Given the description of an element on the screen output the (x, y) to click on. 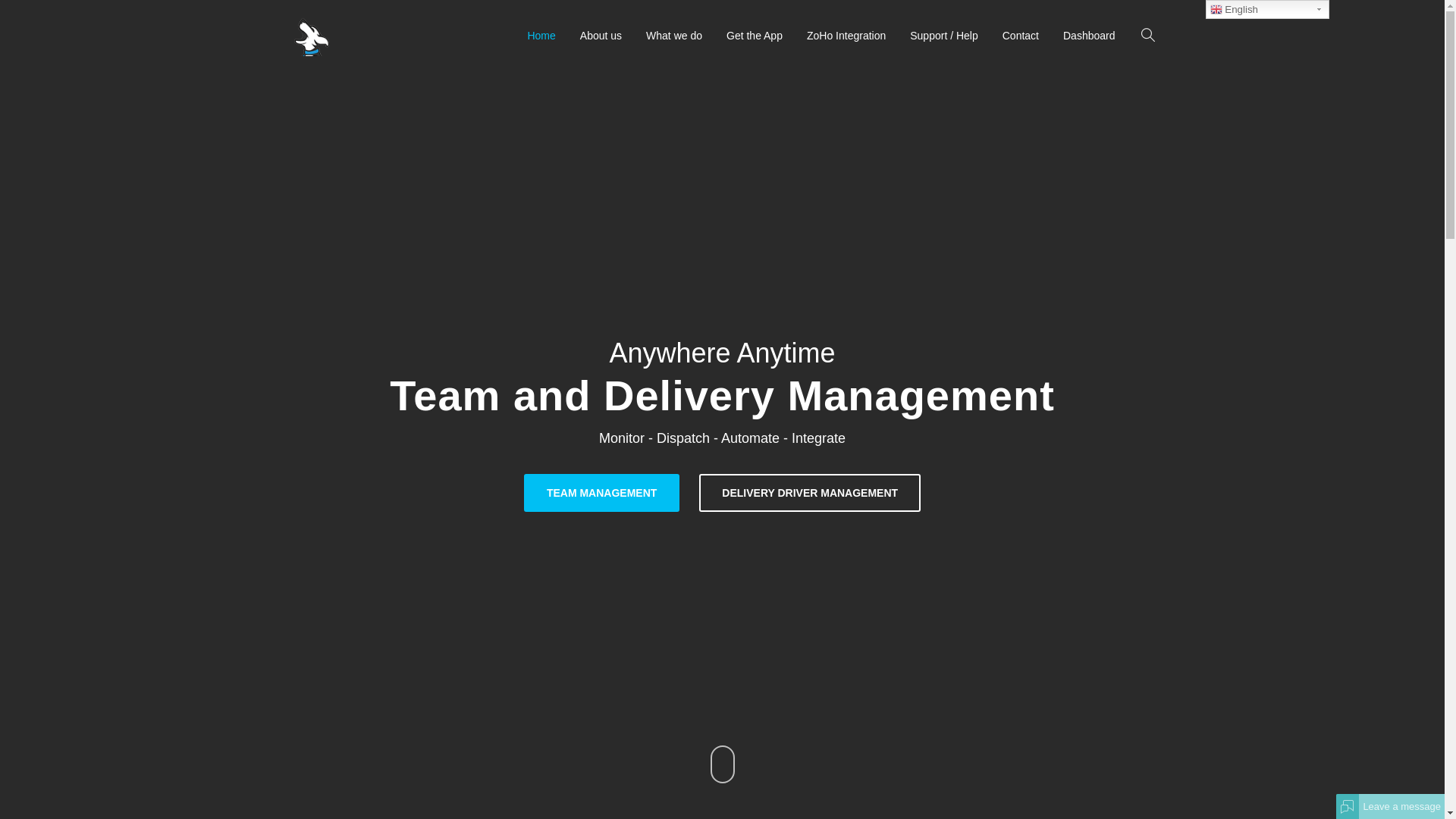
DELIVERY DRIVER MANAGEMENT Element type: text (809, 492)
Contact Element type: text (1020, 35)
Home Element type: text (541, 35)
Dashboard Element type: text (1089, 35)
TEAM MANAGEMENT Element type: text (601, 492)
Support / Help Element type: text (944, 35)
ZoHo Integration Element type: text (845, 35)
Offline Element type: hover (1347, 805)
Get the App Element type: text (754, 35)
About us Element type: text (600, 35)
English Element type: text (1267, 9)
What we do Element type: text (674, 35)
